Given the description of an element on the screen output the (x, y) to click on. 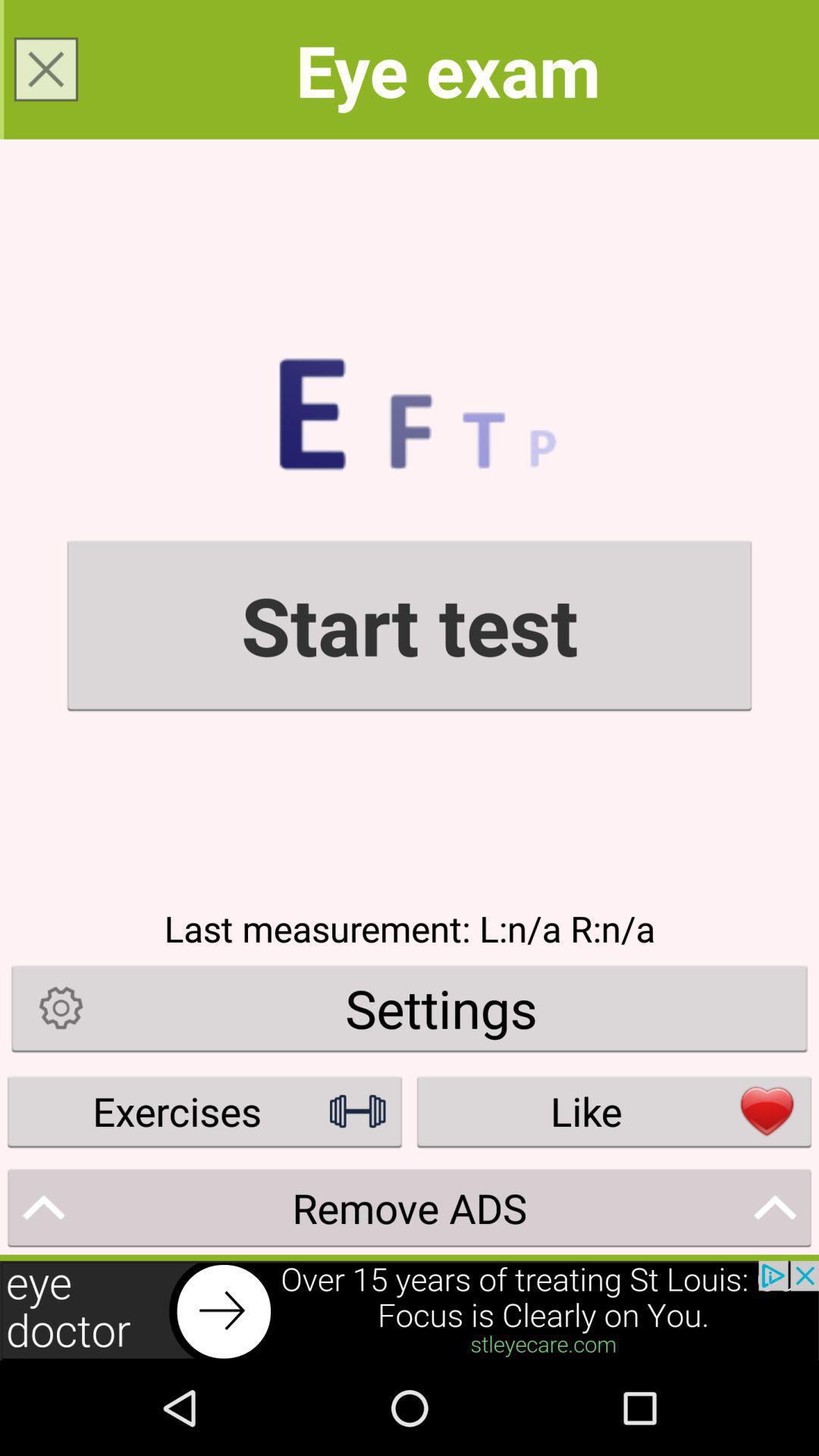
close the page (45, 69)
